Given the description of an element on the screen output the (x, y) to click on. 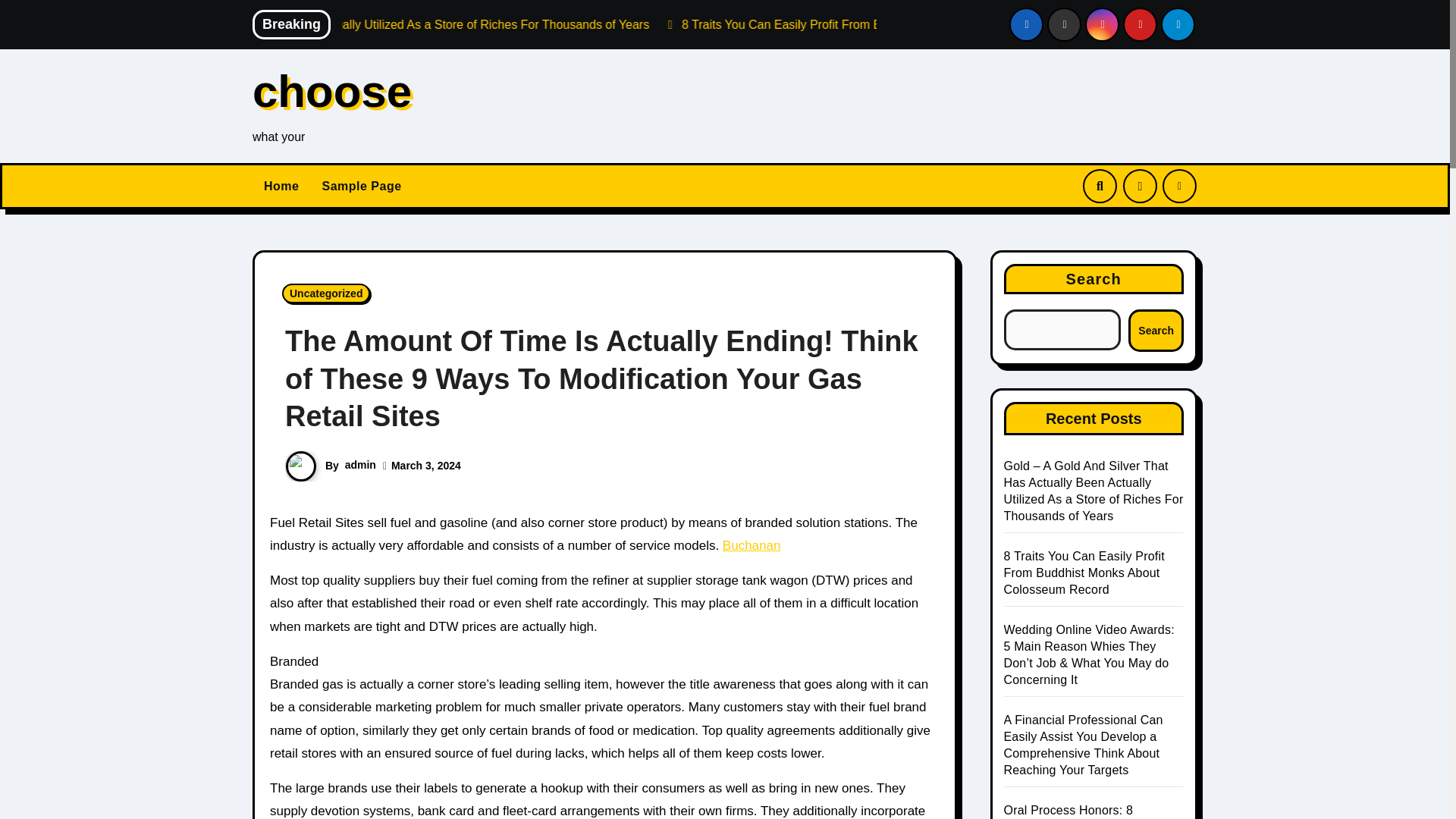
Home (280, 187)
Home (280, 187)
choose (331, 91)
Uncategorized (325, 293)
Buchanan (751, 545)
admin (360, 464)
March 3, 2024 (426, 465)
Sample Page (361, 187)
